Given the description of an element on the screen output the (x, y) to click on. 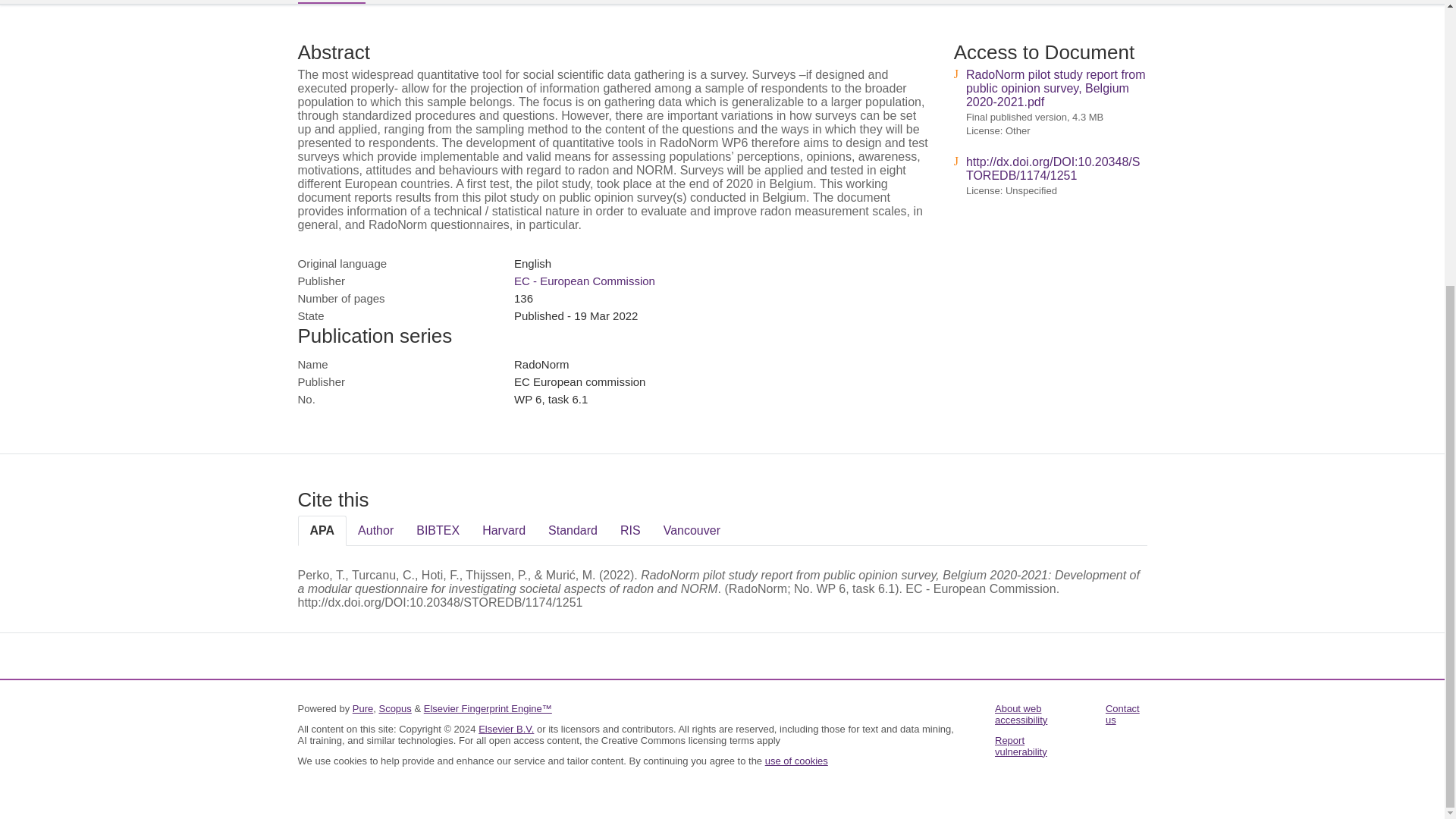
Pure (362, 708)
Contact us (1122, 713)
Report vulnerability (1020, 745)
Scopus (394, 708)
About web accessibility (1020, 713)
use of cookies (796, 760)
EC - European Commission (584, 280)
Elsevier B.V. (506, 728)
Overview (331, 2)
